Given the description of an element on the screen output the (x, y) to click on. 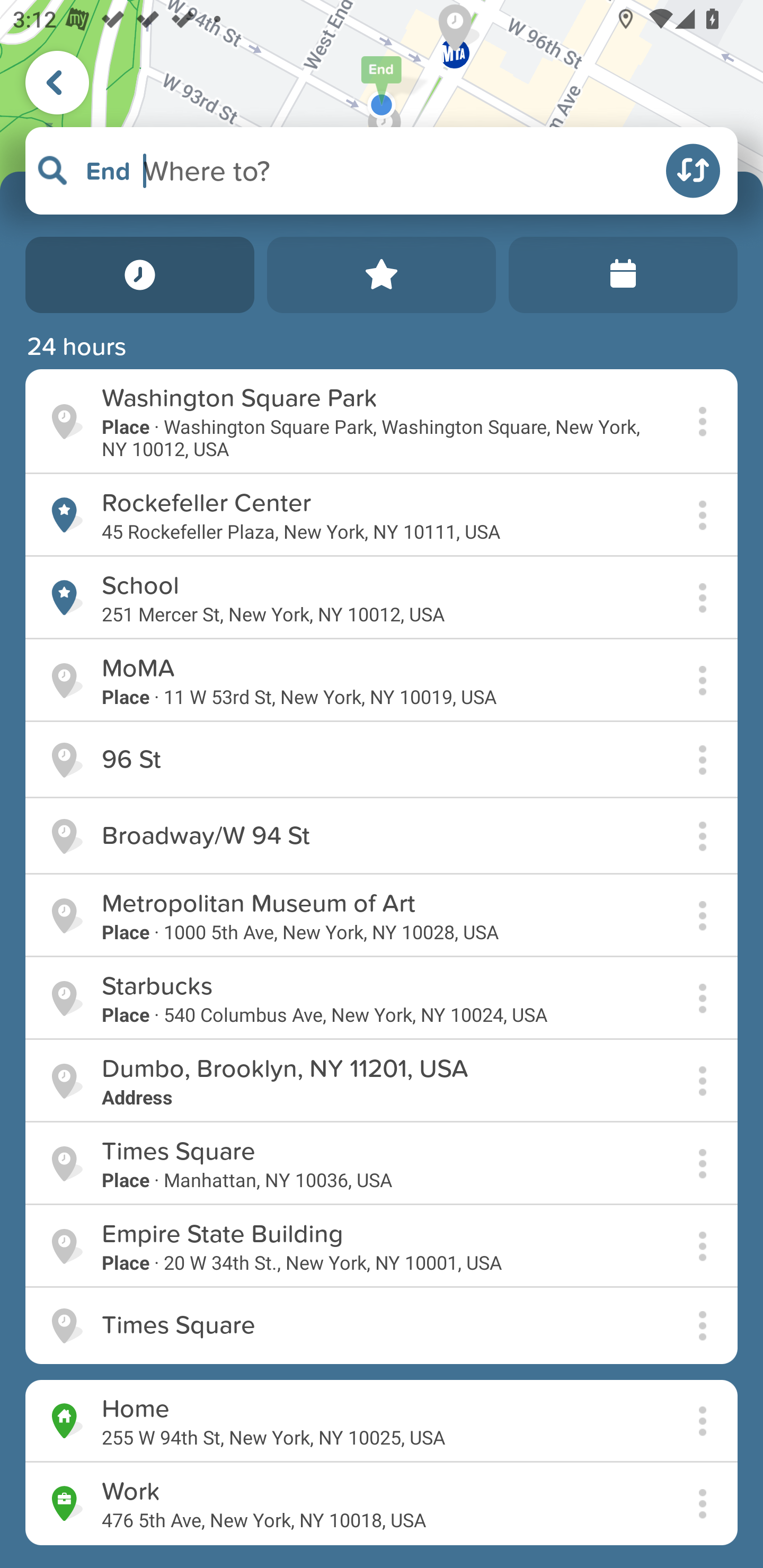
Saved (381, 274)
